Given the description of an element on the screen output the (x, y) to click on. 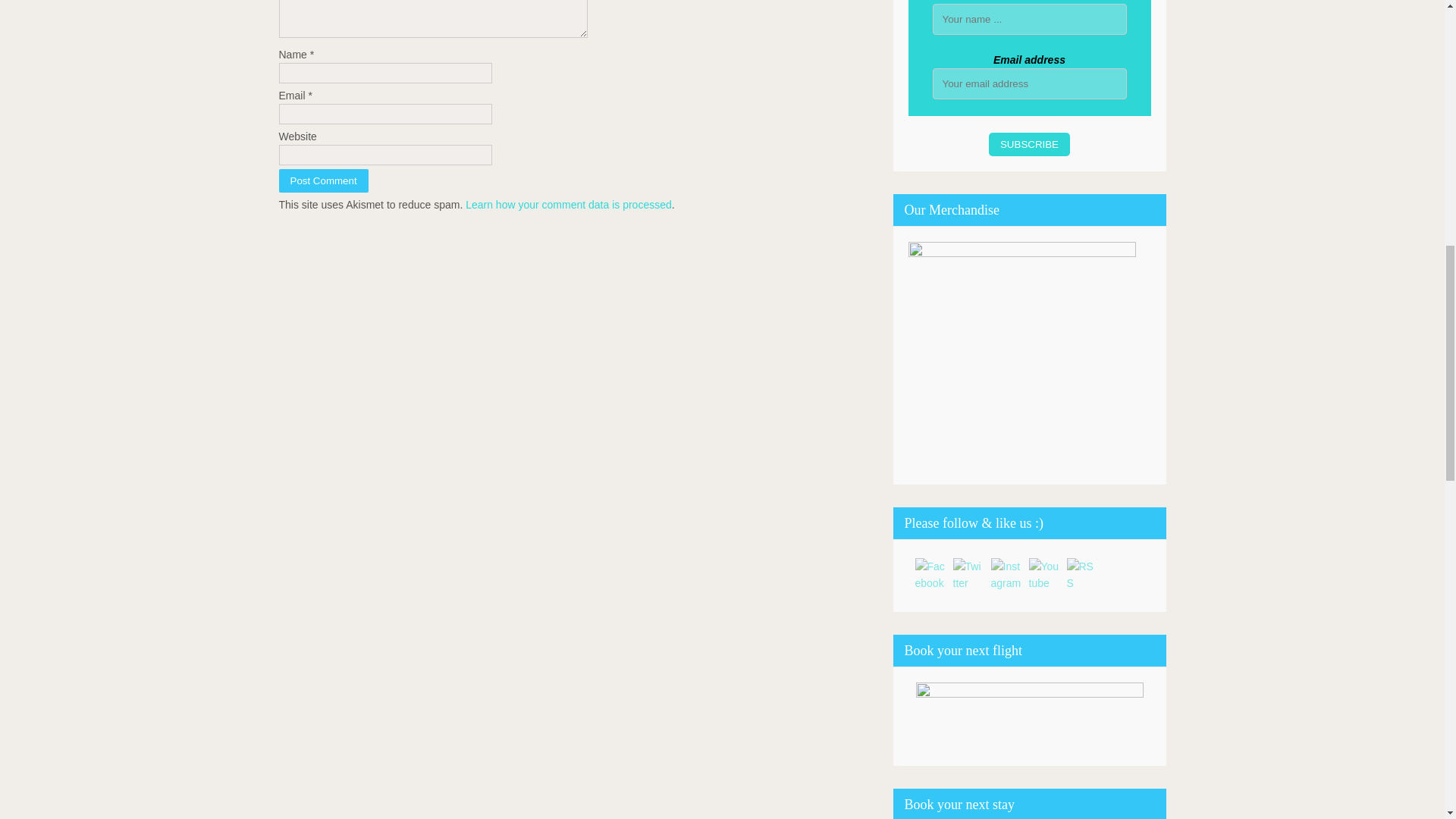
SUBSCRIBE (1029, 144)
Twitter (967, 574)
Facebook (929, 574)
Post Comment (323, 180)
Learn how your comment data is processed (568, 204)
RSS (1080, 574)
Instagram (1005, 574)
Post Comment (323, 180)
Youtube (1042, 574)
